Given the description of an element on the screen output the (x, y) to click on. 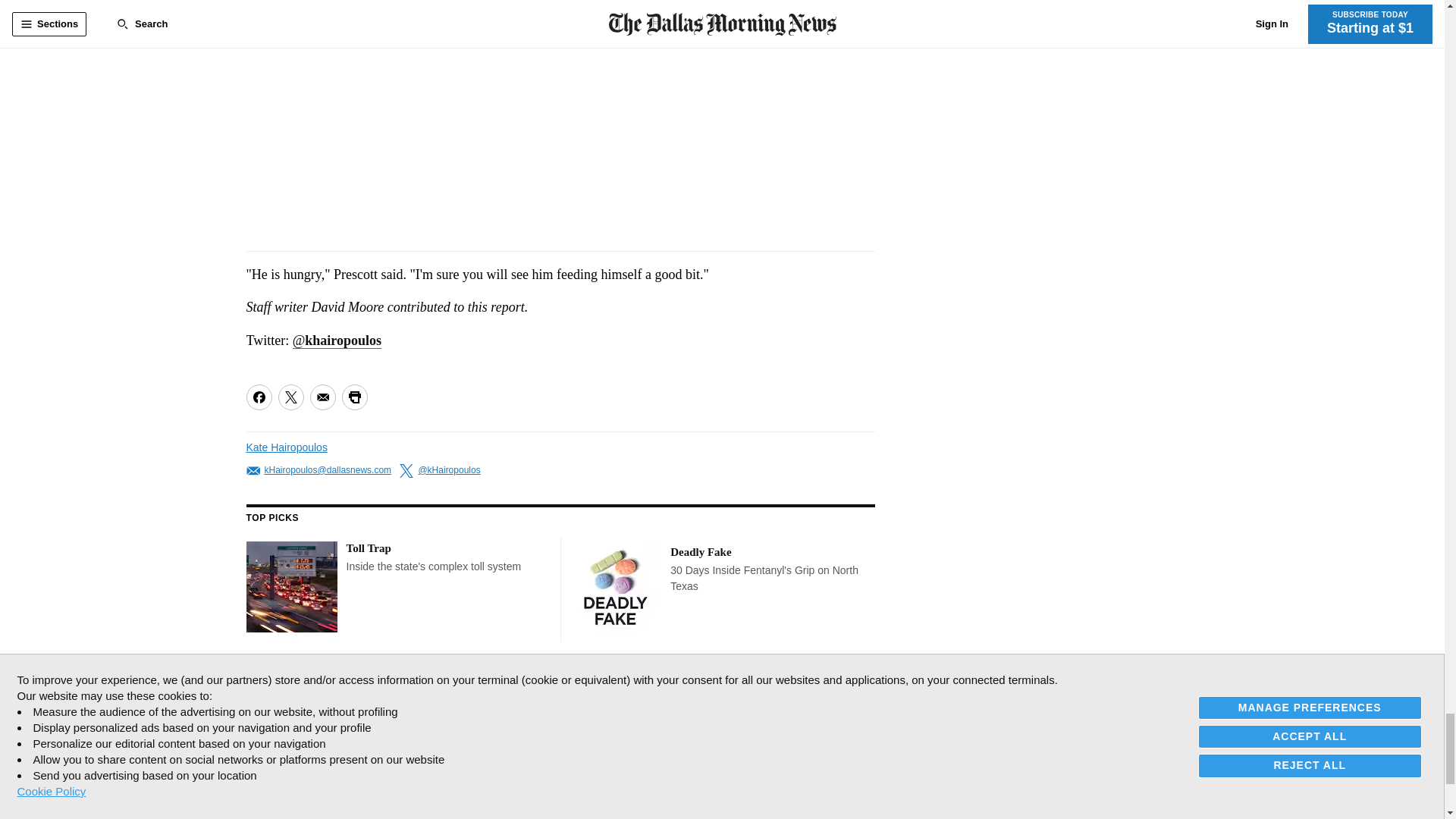
Share on Facebook (258, 397)
Share on Twitter (290, 397)
The Dallas Morning News on Instagram (332, 689)
The Dallas Morning News on YouTube (365, 689)
The Dallas Morning News on Facebook (259, 689)
Share via Email (321, 397)
The Dallas Morning News on Twitter (293, 689)
Print (353, 397)
